Given the description of an element on the screen output the (x, y) to click on. 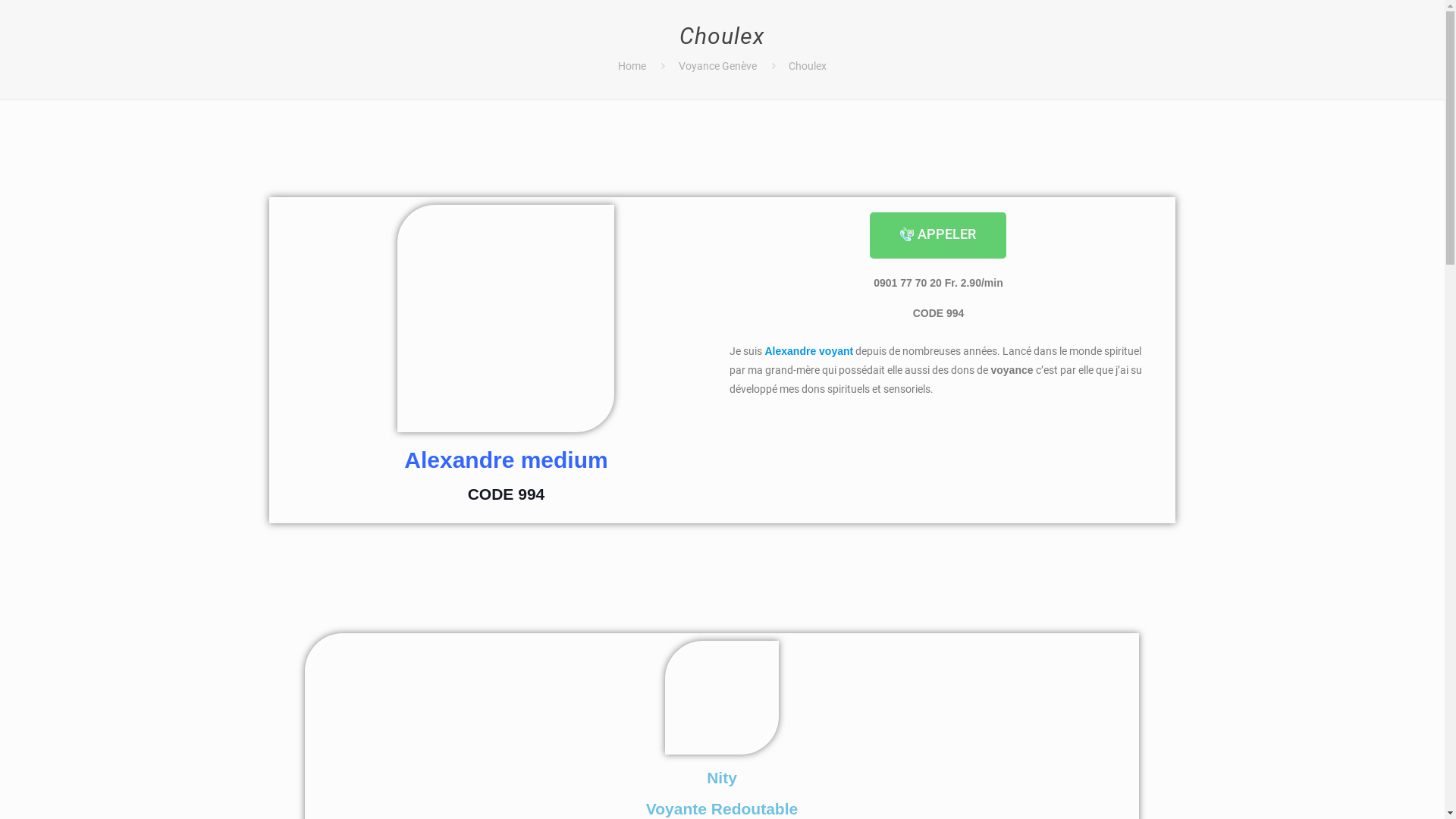
Choulex Element type: text (807, 65)
Alexandre voyant Element type: text (808, 351)
APPELER Element type: text (937, 235)
Alexandre medium Element type: text (505, 459)
Nity Element type: text (722, 777)
Voyante Redoutable Element type: text (721, 808)
Home Element type: text (632, 65)
